Given the description of an element on the screen output the (x, y) to click on. 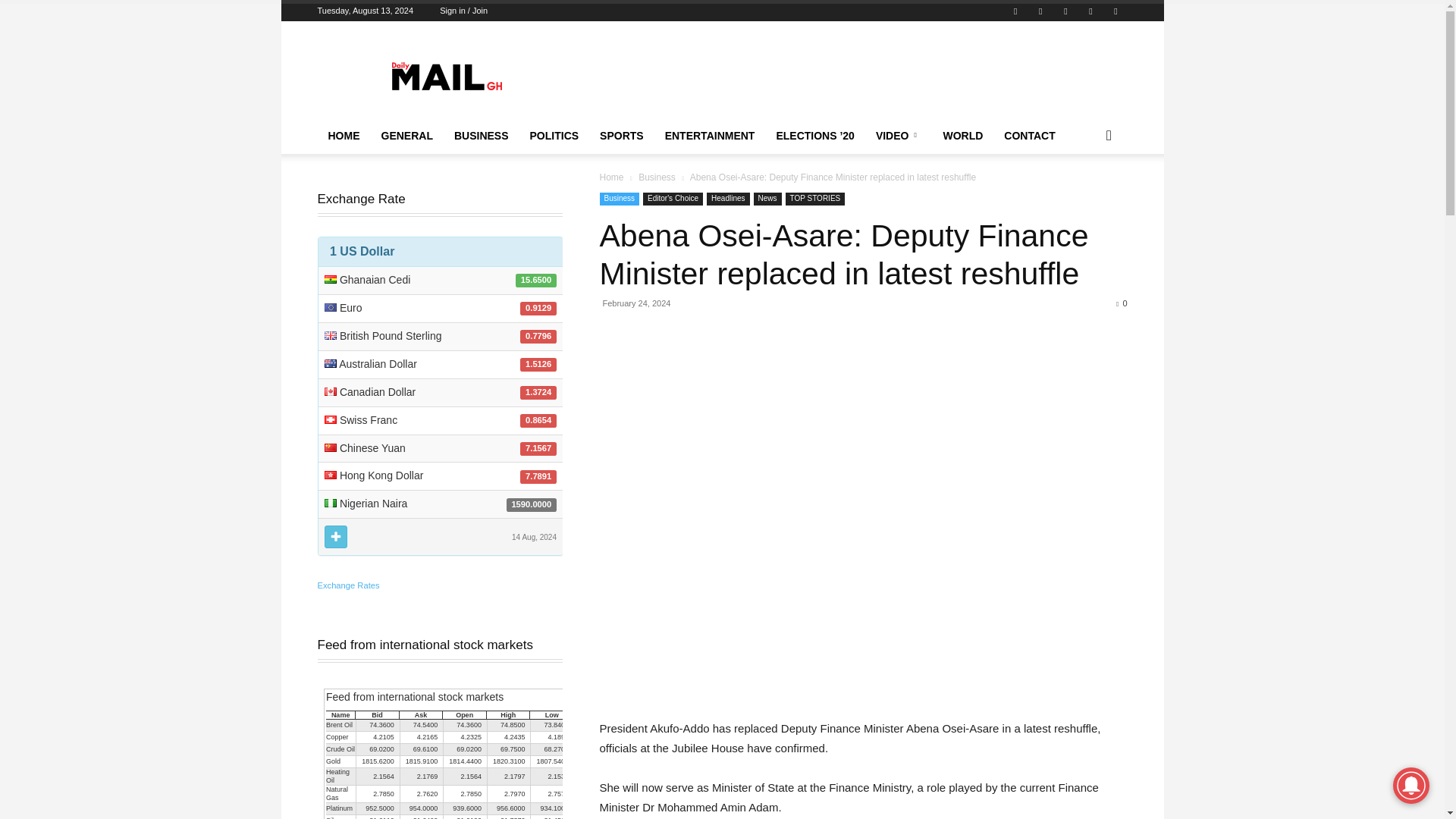
VKontakte (1114, 10)
VIDEO (898, 135)
Twitter (1065, 10)
BUSINESS (481, 135)
GENERAL (405, 135)
Twitch (1040, 10)
ENTERTAINMENT (709, 135)
SPORTS (621, 135)
View all posts in Business (657, 176)
HOME (343, 135)
